Given the description of an element on the screen output the (x, y) to click on. 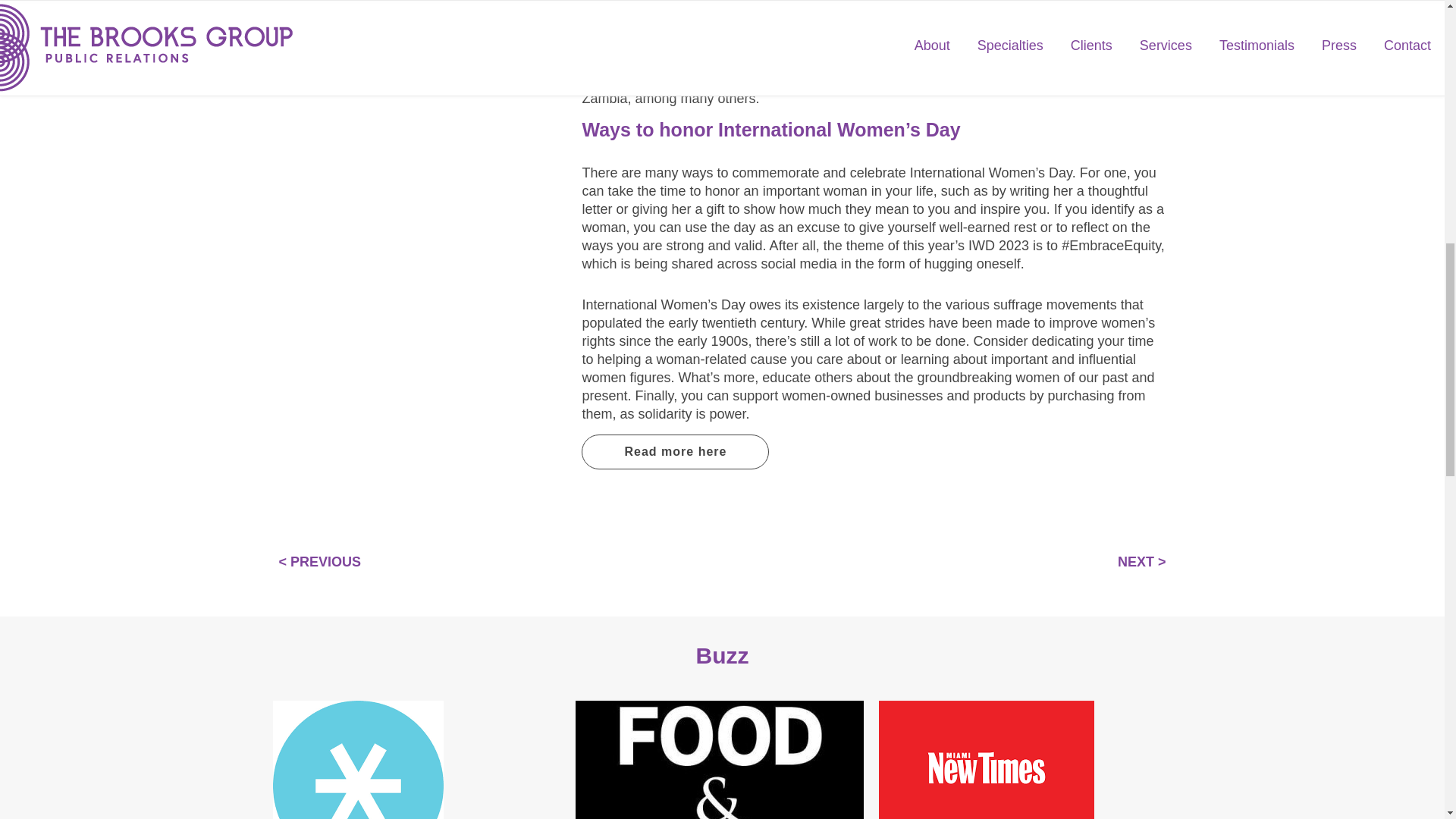
Read more here (674, 451)
